Given the description of an element on the screen output the (x, y) to click on. 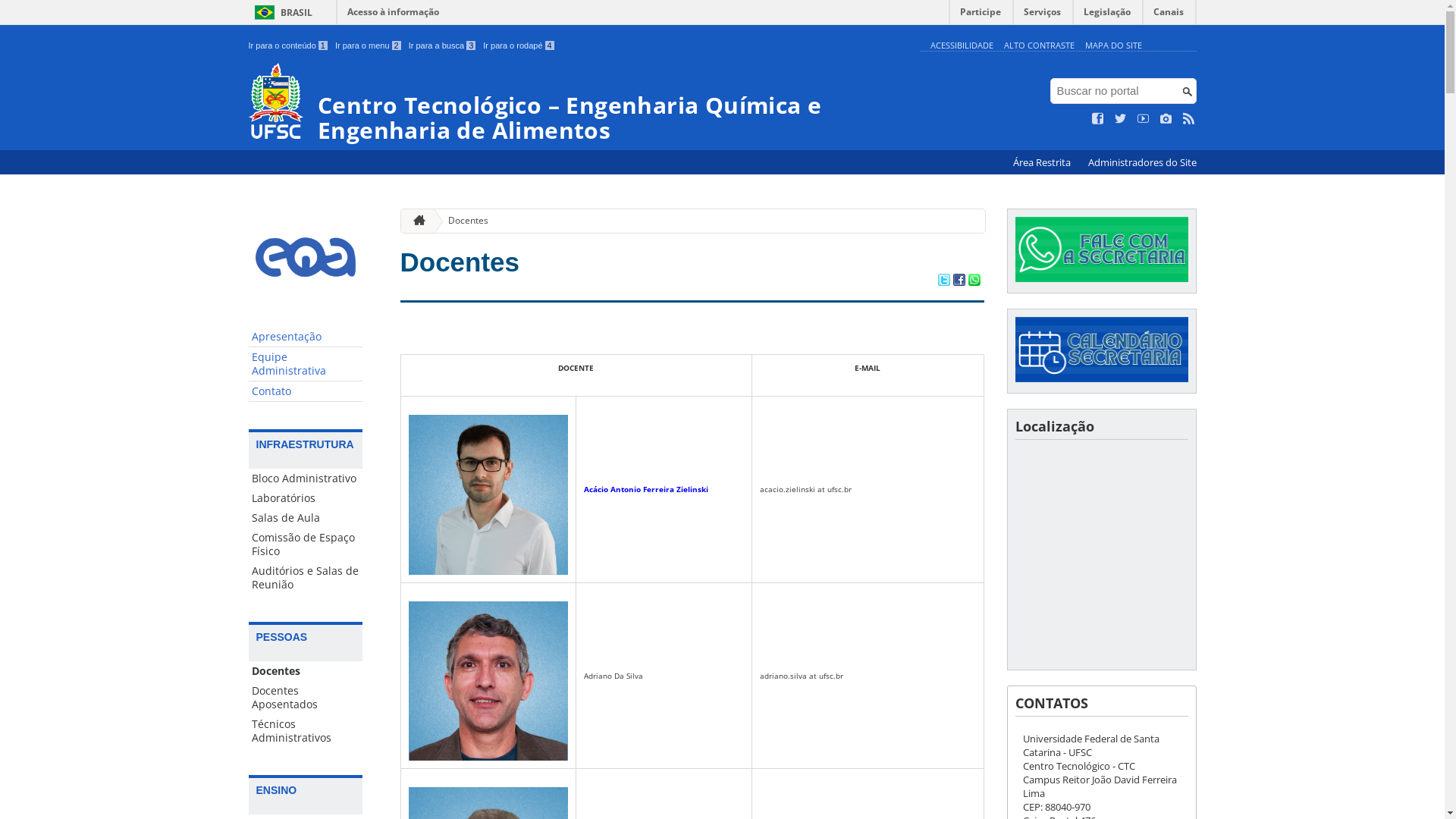
Contato Element type: text (305, 391)
Bloco Administrativo Element type: text (305, 478)
Ir para o menu 2 Element type: text (368, 45)
Ir para a busca 3 Element type: text (442, 45)
Equipe Administrativa Element type: text (305, 364)
Canais Element type: text (1169, 15)
Salas de Aula Element type: text (305, 517)
Compartilhar no Twitter Element type: hover (943, 280)
Curta no Facebook Element type: hover (1098, 118)
Docentes Element type: text (461, 220)
Participe Element type: text (980, 15)
Veja no Instagram Element type: hover (1166, 118)
Administradores do Site Element type: text (1141, 162)
MAPA DO SITE Element type: text (1112, 44)
Siga no Twitter Element type: hover (1120, 118)
ALTO CONTRASTE Element type: text (1039, 44)
Compartilhar no WhatsApp Element type: hover (973, 280)
Docentes Aposentados Element type: text (305, 697)
ACESSIBILIDADE Element type: text (960, 44)
Docentes Element type: text (460, 261)
BRASIL Element type: text (280, 12)
Docentes Element type: text (305, 670)
Compartilhar no Facebook Element type: hover (958, 280)
